Given the description of an element on the screen output the (x, y) to click on. 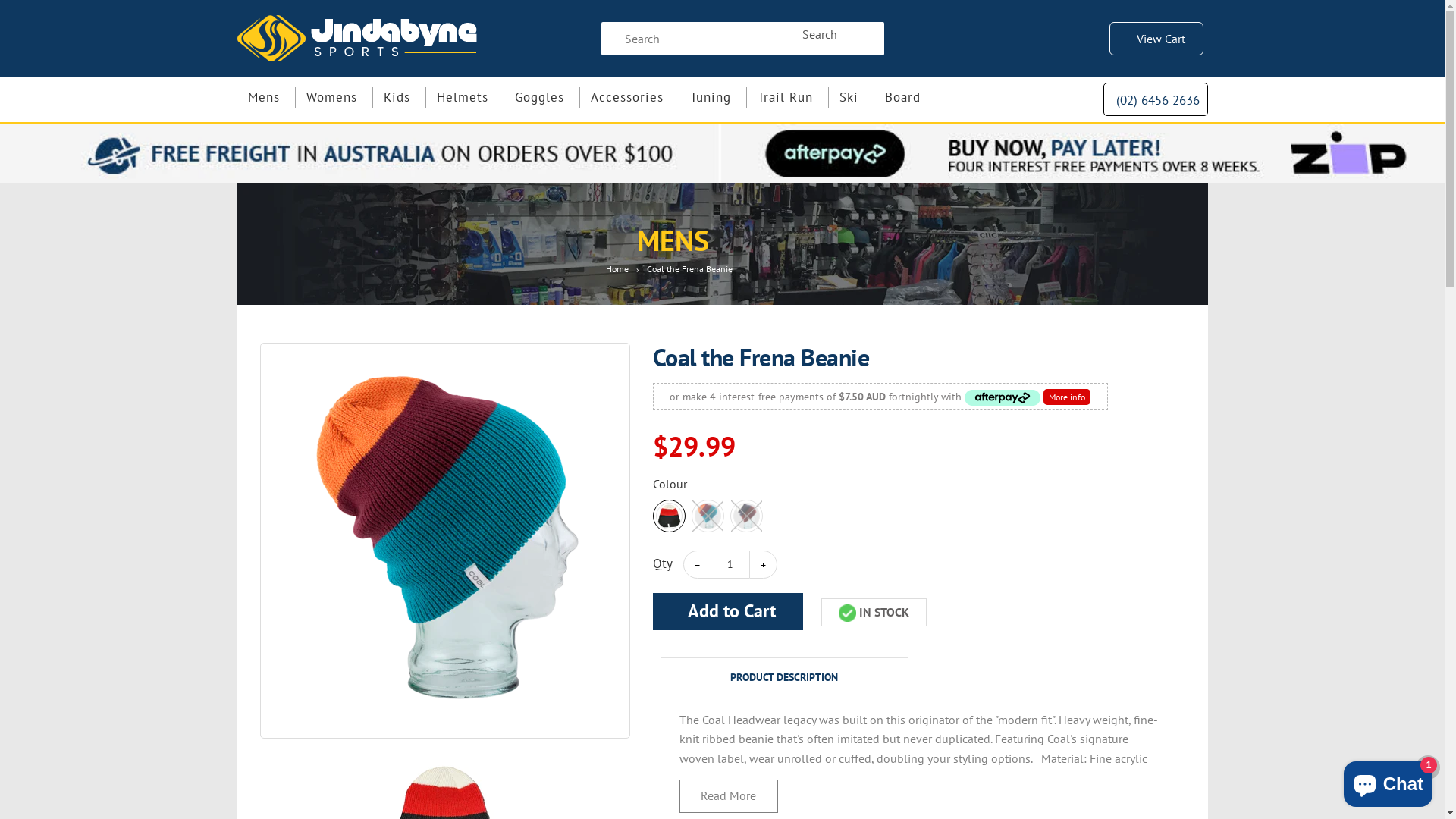
Helmets Element type: text (479, 97)
Shopify online store chat Element type: hover (1388, 780)
Goggles Element type: text (558, 97)
More info Element type: text (1027, 396)
Accessories Element type: text (651, 97)
Tuning Element type: text (737, 97)
Home Element type: text (618, 268)
(02) 6456 2636 Element type: text (1155, 99)
Mens Element type: text (272, 97)
Womens Element type: text (343, 97)
Add to Cart Element type: text (727, 611)
Search Element type: text (818, 33)
Board Element type: text (909, 97)
+ Element type: text (763, 564)
View Cart Element type: text (1158, 38)
Coal the Frena Beanie Element type: hover (444, 540)
Trail Run Element type: text (815, 97)
Kids Element type: text (412, 97)
PRODUCT DESCRIPTION Element type: text (784, 676)
Ski Element type: text (855, 97)
